Given the description of an element on the screen output the (x, y) to click on. 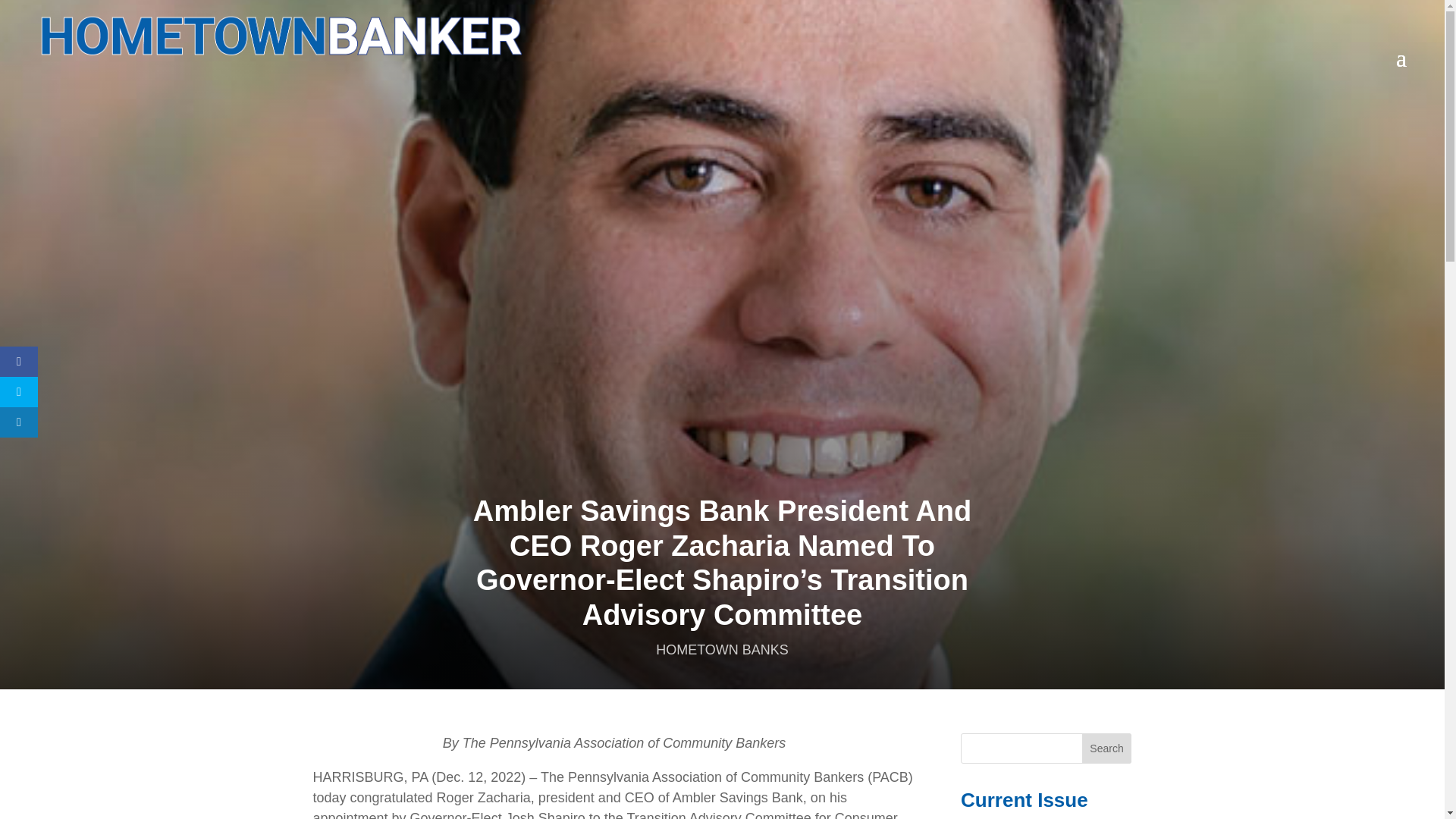
HOMETOWN BANKS (722, 649)
Search (1106, 748)
Search (1106, 748)
